Given the description of an element on the screen output the (x, y) to click on. 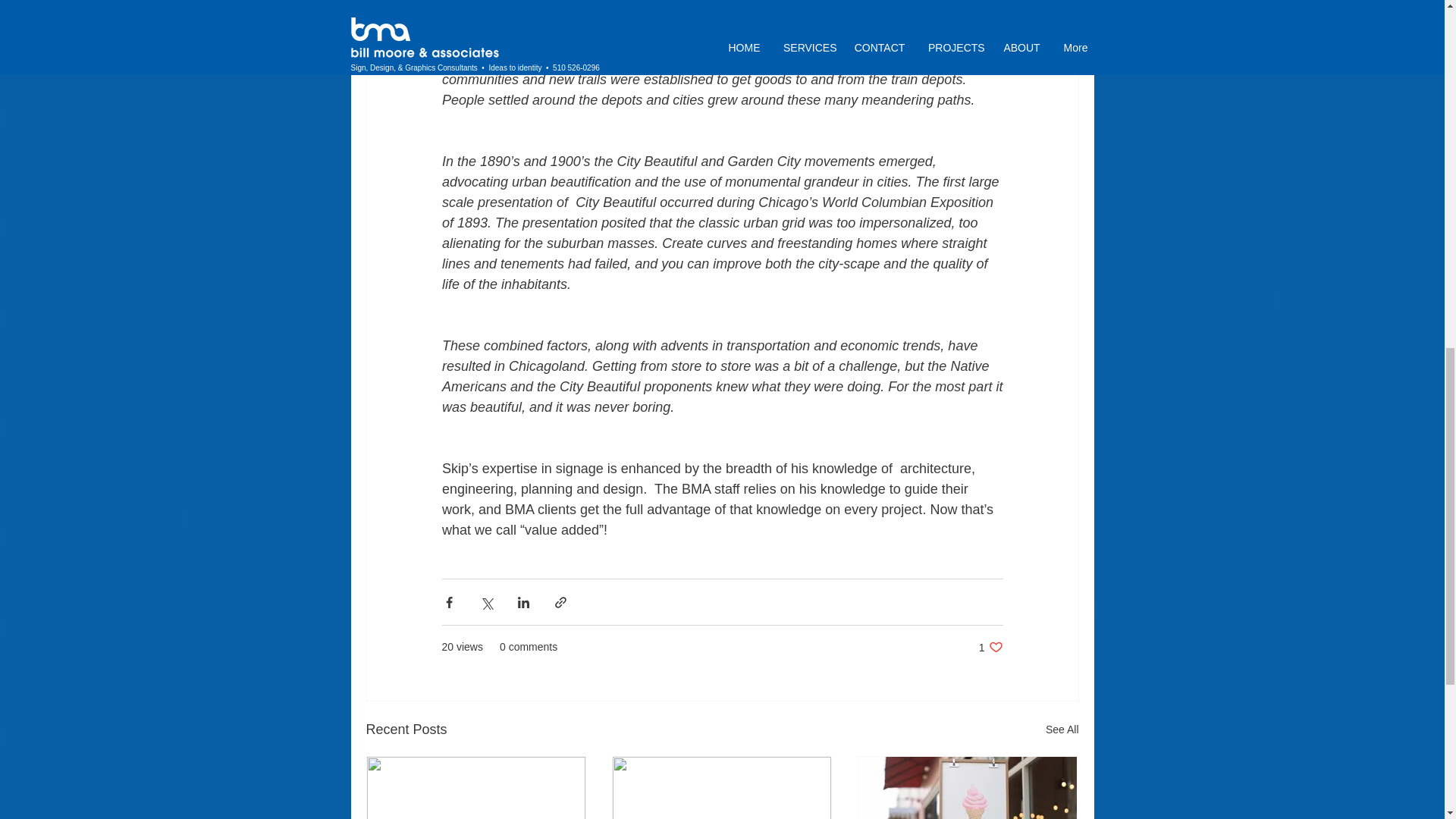
See All (1061, 730)
